Given the description of an element on the screen output the (x, y) to click on. 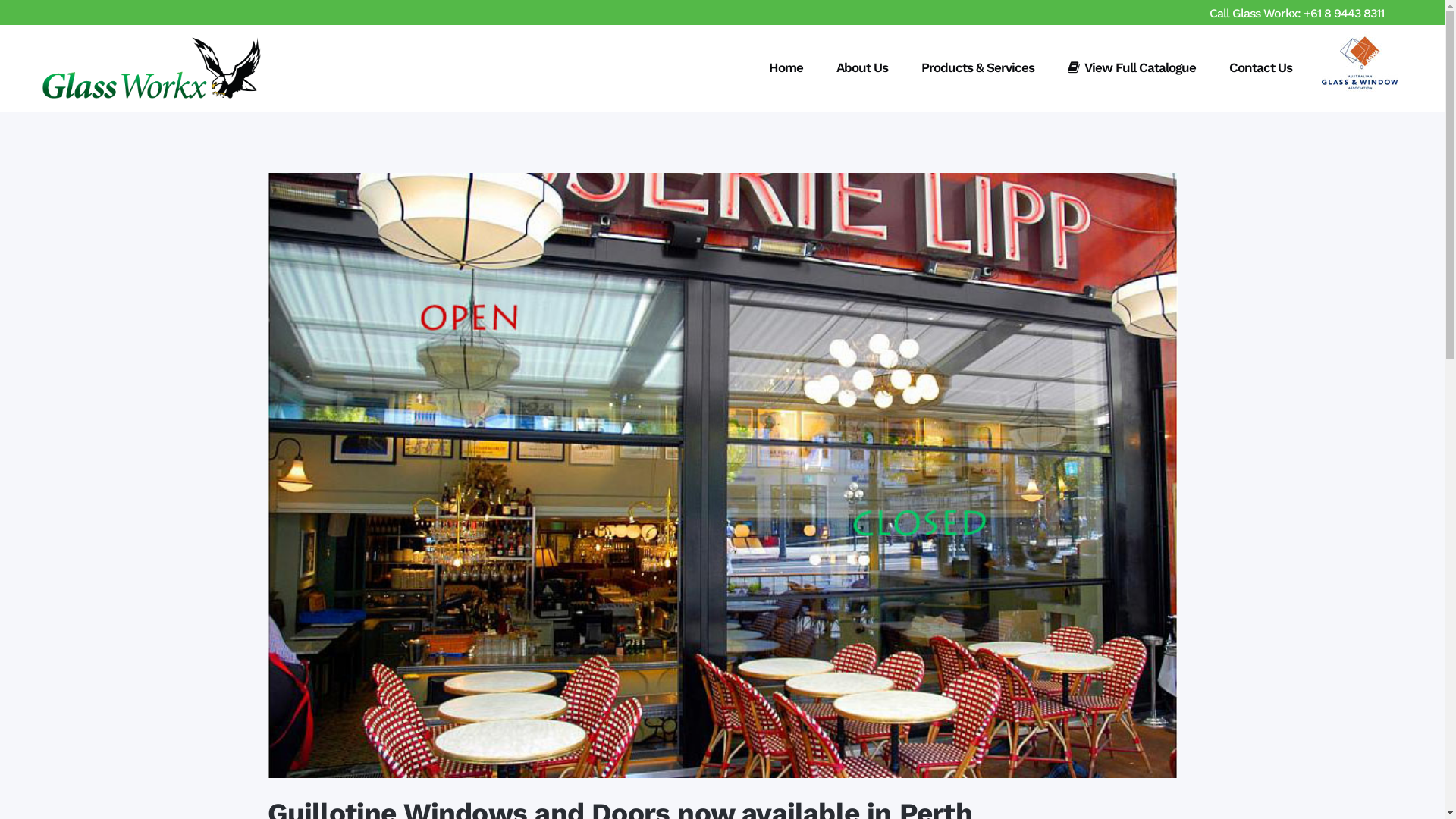
Contact Us Element type: text (1260, 67)
View Full Catalogue Element type: text (1131, 67)
Home Element type: text (785, 67)
About Us Element type: text (861, 67)
Products & Services Element type: text (977, 67)
